Given the description of an element on the screen output the (x, y) to click on. 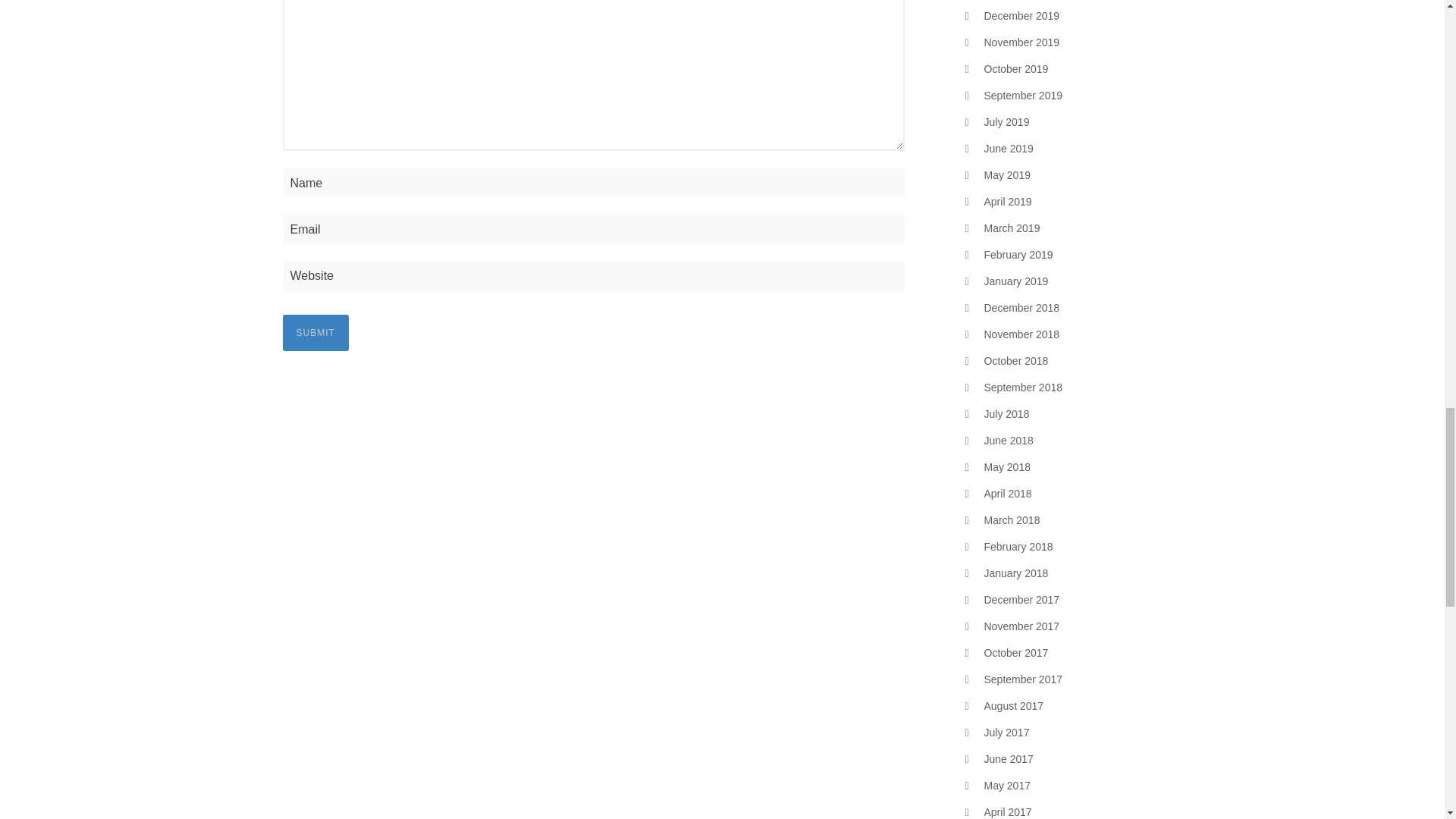
Submit (314, 332)
Submit (314, 332)
